Given the description of an element on the screen output the (x, y) to click on. 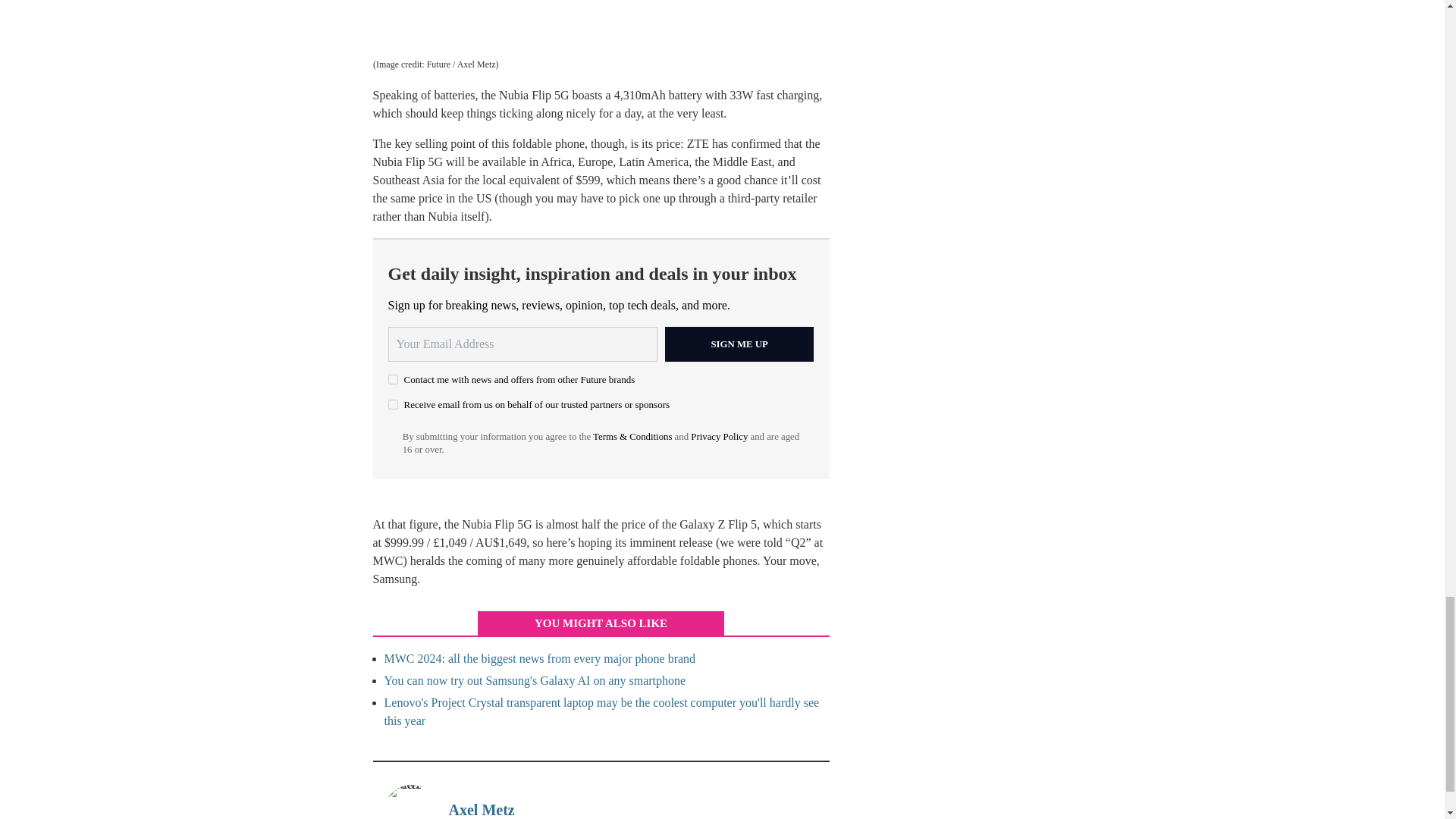
on (392, 100)
Sign me up (739, 64)
on (392, 125)
